Given the description of an element on the screen output the (x, y) to click on. 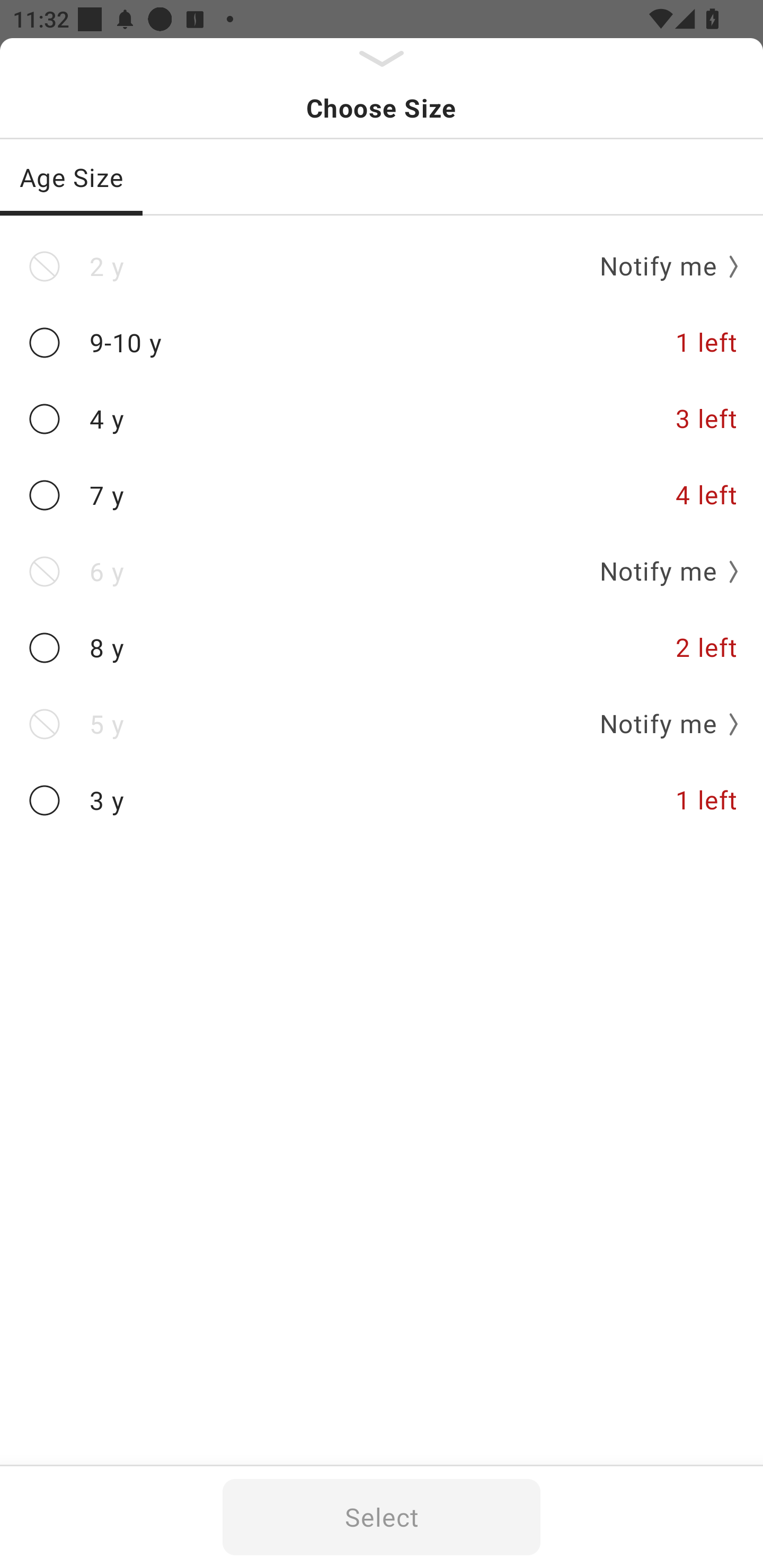
2 y Notify me (381, 266)
Notify me (661, 266)
9-10 y 1 left (381, 342)
4 y 3 left (381, 419)
7 y 4 left (381, 495)
6 y Notify me (381, 571)
Notify me (661, 571)
8 y 2 left (381, 647)
5 y Notify me (381, 724)
Notify me (661, 724)
3 y 1 left (381, 800)
Select (381, 1516)
